Given the description of an element on the screen output the (x, y) to click on. 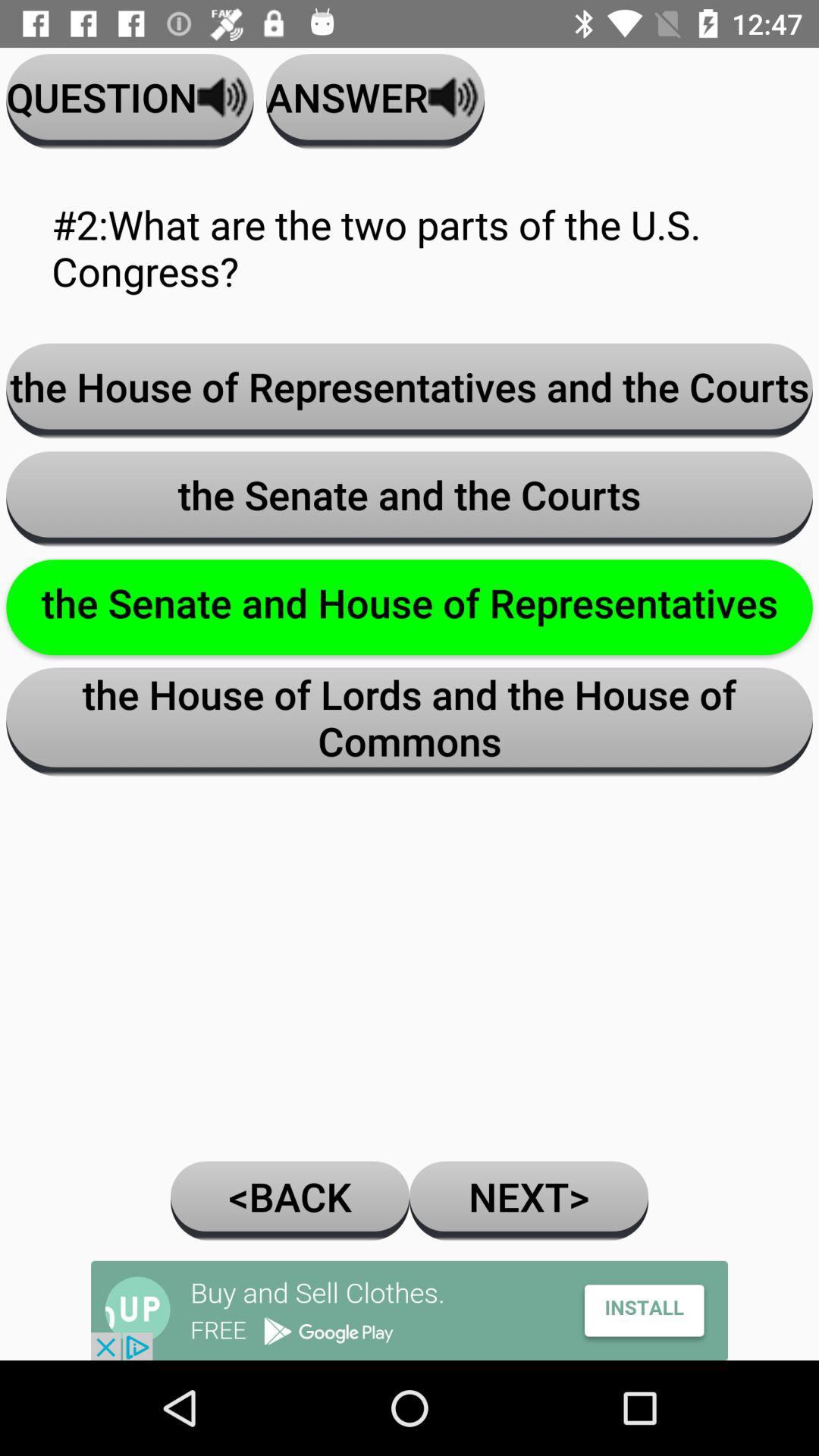
go to advertisement (409, 1310)
